Given the description of an element on the screen output the (x, y) to click on. 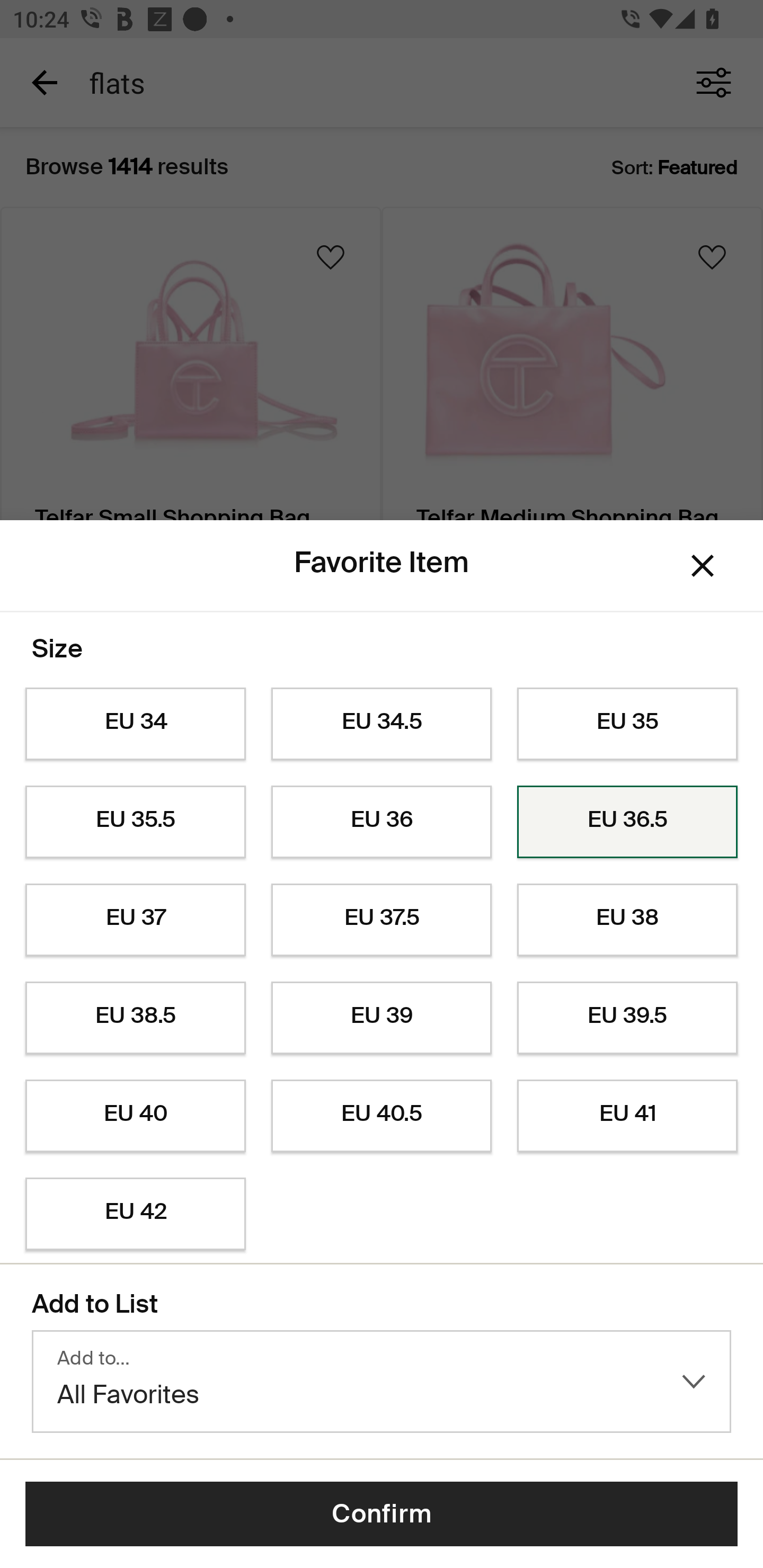
Dismiss (702, 564)
EU 34 (135, 724)
EU 34.5 (381, 724)
EU 35 (627, 724)
EU 35.5 (135, 822)
EU 36 (381, 822)
EU 36.5 (627, 822)
EU 37 (135, 919)
EU 37.5 (381, 919)
EU 38 (627, 919)
EU 38.5 (135, 1018)
EU 39 (381, 1018)
EU 39.5 (627, 1018)
EU 40 (135, 1116)
EU 40.5 (381, 1116)
EU 41 (627, 1116)
EU 42 (135, 1214)
Add to… All Favorites (381, 1381)
Confirm (381, 1513)
